Given the description of an element on the screen output the (x, y) to click on. 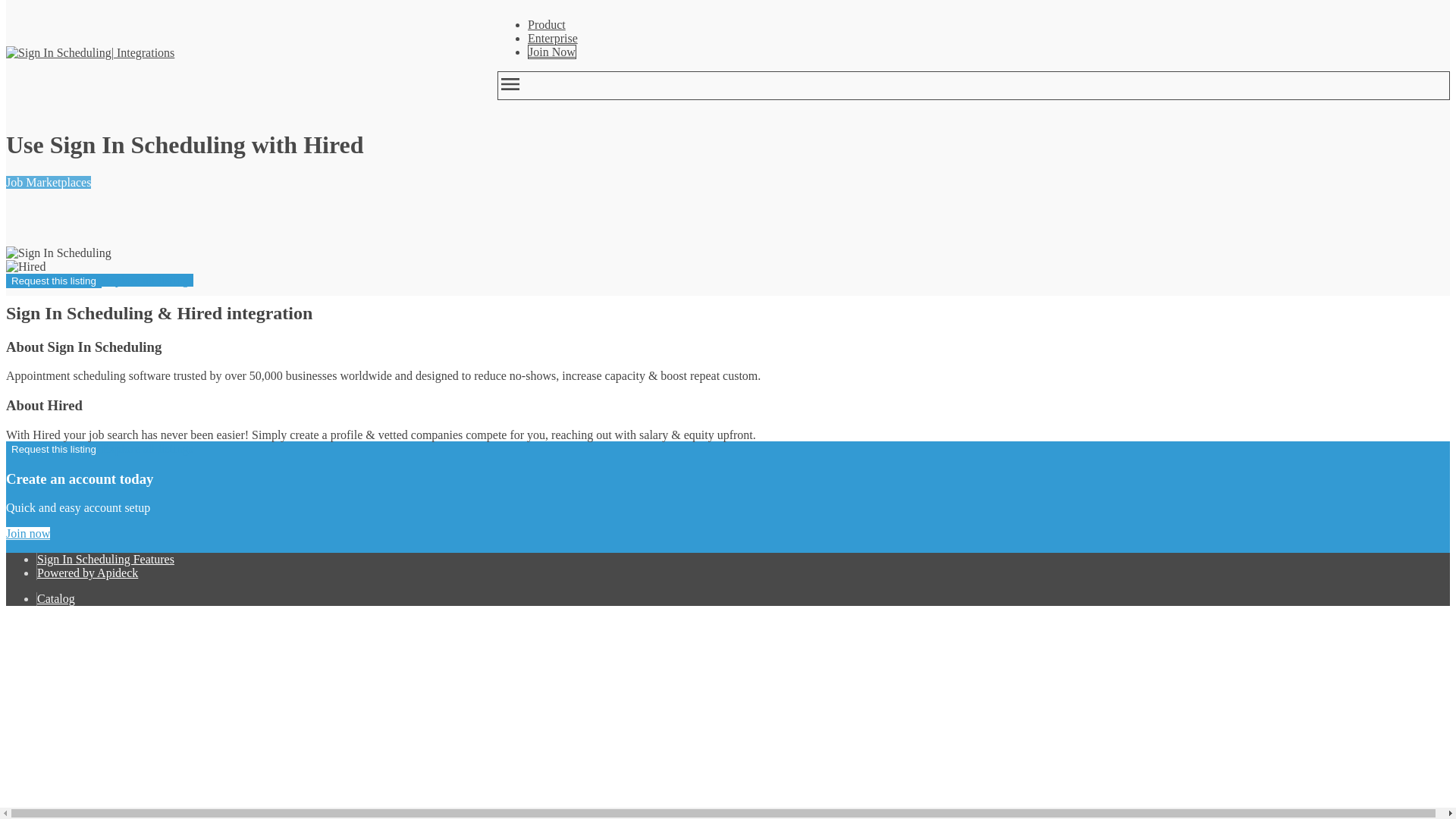
Request this listing (53, 280)
Catalog (56, 598)
Hired (25, 266)
Explore all listings (147, 279)
Enterprise (552, 38)
Sign In Scheduling Features (105, 558)
Request this listing (53, 449)
Explore all listings (147, 448)
Sign In Scheduling (58, 253)
Join now (27, 533)
Sign In Scheduling (58, 52)
Product (546, 24)
Powered by Apideck (87, 572)
Join Now (551, 51)
